Given the description of an element on the screen output the (x, y) to click on. 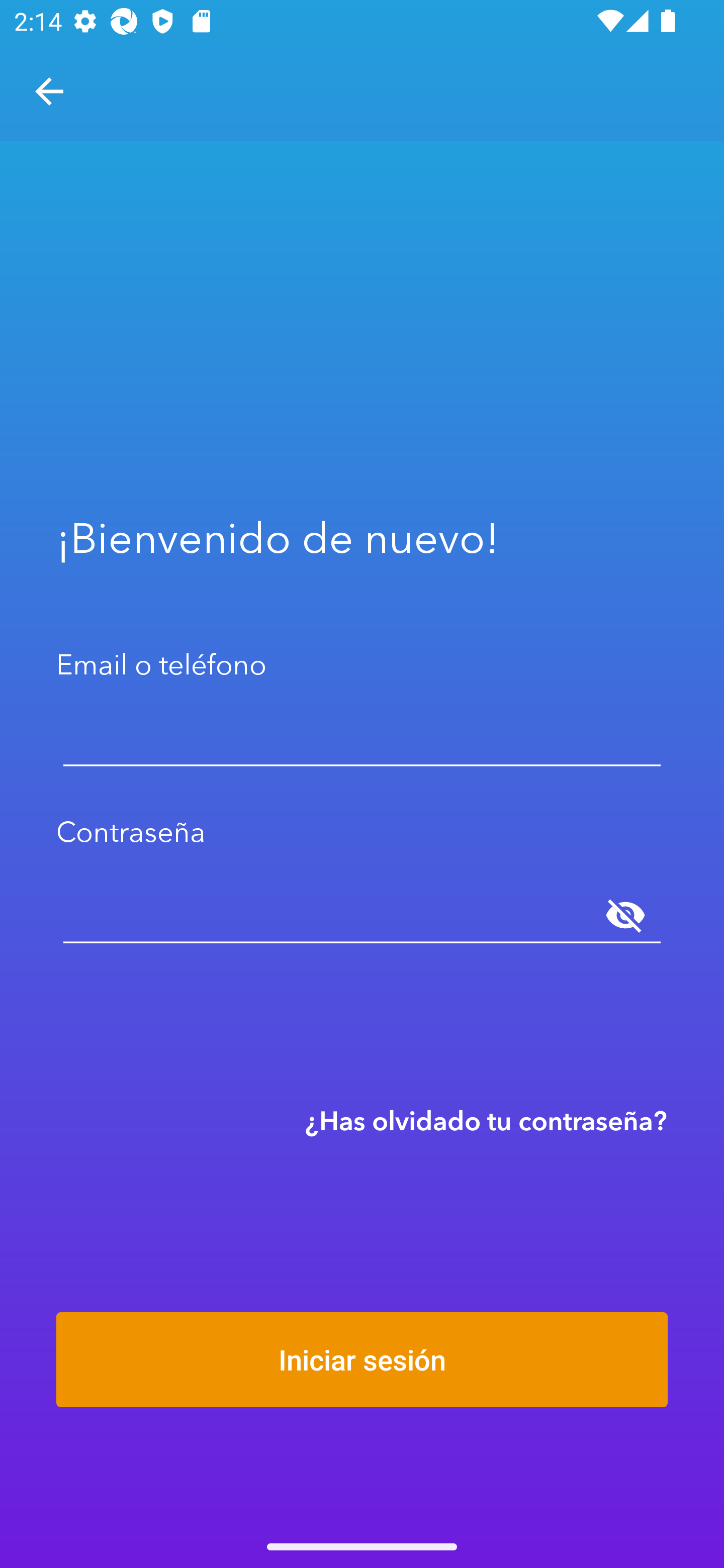
Navegar hacia arriba (49, 91)
Mostrar contraseña (625, 915)
¿Has olvidado tu contraseña? (486, 1119)
Iniciar sesión (361, 1359)
